Given the description of an element on the screen output the (x, y) to click on. 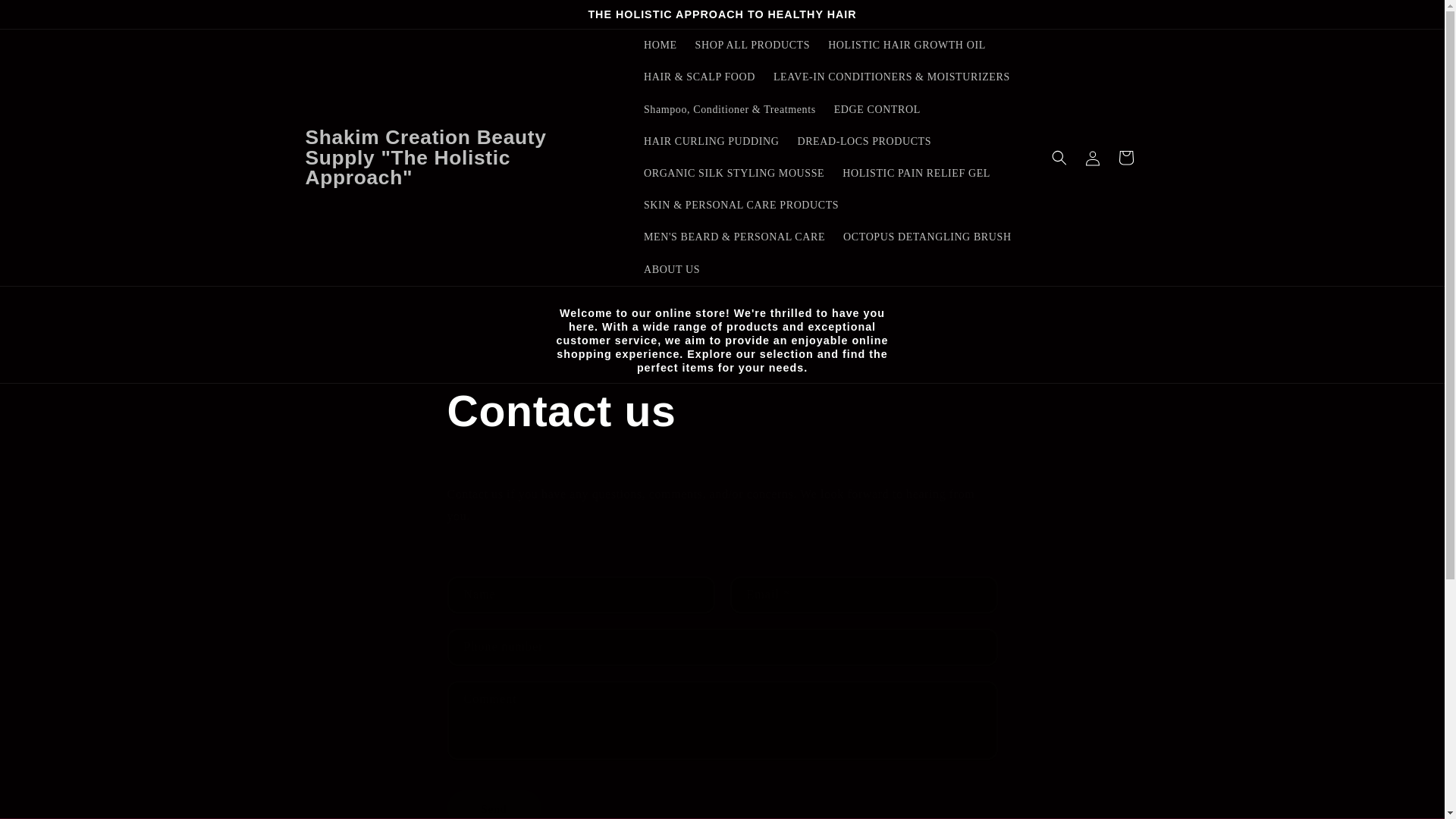
HOLISTIC HAIR GROWTH OIL (906, 45)
ORGANIC SILK STYLING MOUSSE (733, 173)
Cart (1124, 157)
SHOP ALL PRODUCTS (752, 45)
DREAD-LOCS PRODUCTS (863, 142)
Contact us (721, 411)
HOLISTIC PAIN RELIEF GEL (915, 173)
Log in (1091, 157)
HOME (659, 45)
Shakim Creation Beauty Supply "The Holistic Approach" (459, 157)
